Given the description of an element on the screen output the (x, y) to click on. 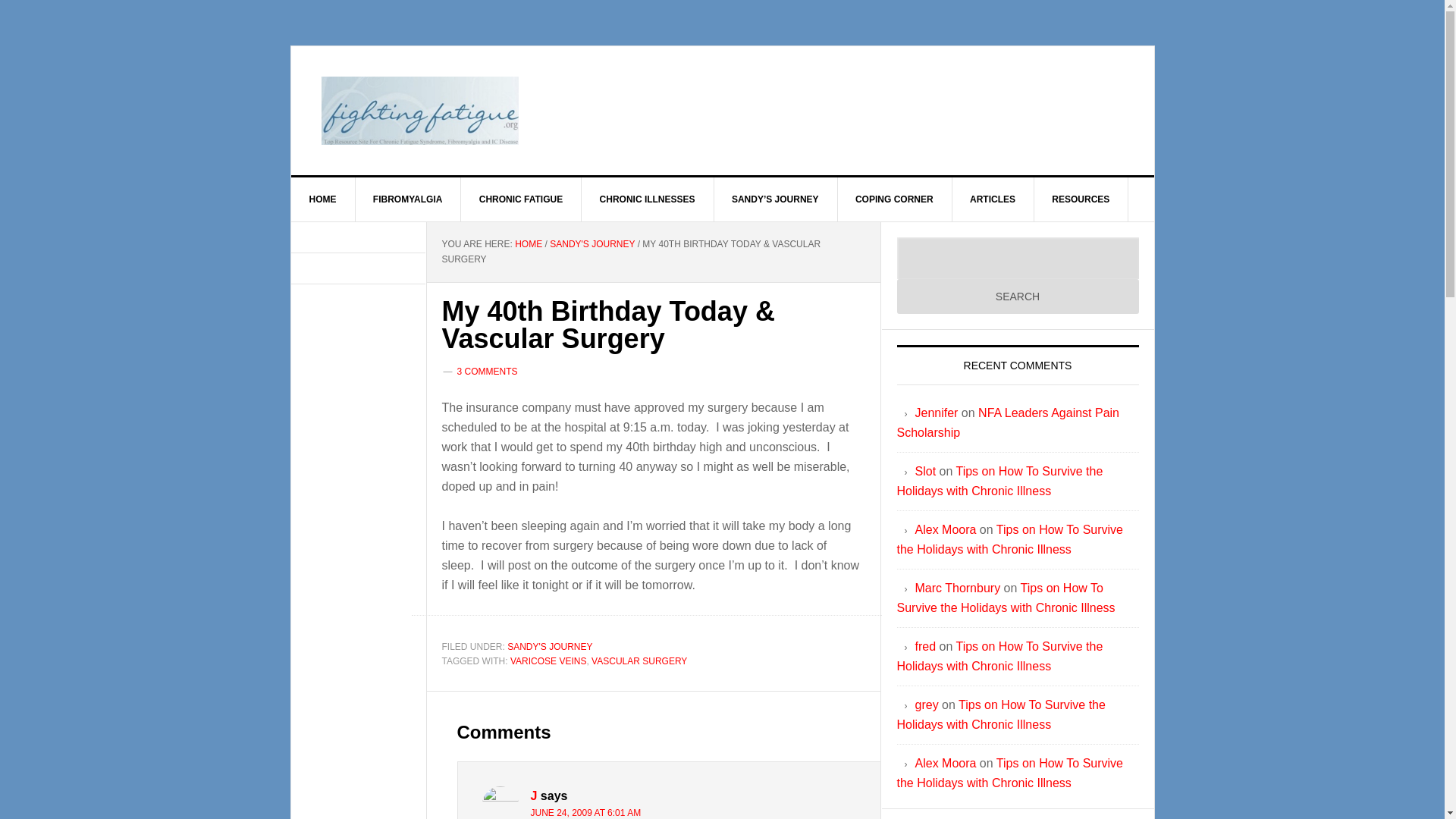
HOME (323, 199)
SANDY'S JOURNEY (592, 244)
VARICOSE VEINS (548, 661)
3 COMMENTS (486, 371)
RESOURCES (1080, 199)
Search (1017, 296)
HOME (528, 244)
ARTICLES (992, 199)
FIBROMYALGIA (408, 199)
SANDY'S JOURNEY (549, 646)
CHRONIC FATIGUE (520, 199)
CHRONIC ILLNESSES (647, 199)
CHRONIC FATIGUE SYNDROME (419, 110)
COPING CORNER (894, 199)
